Given the description of an element on the screen output the (x, y) to click on. 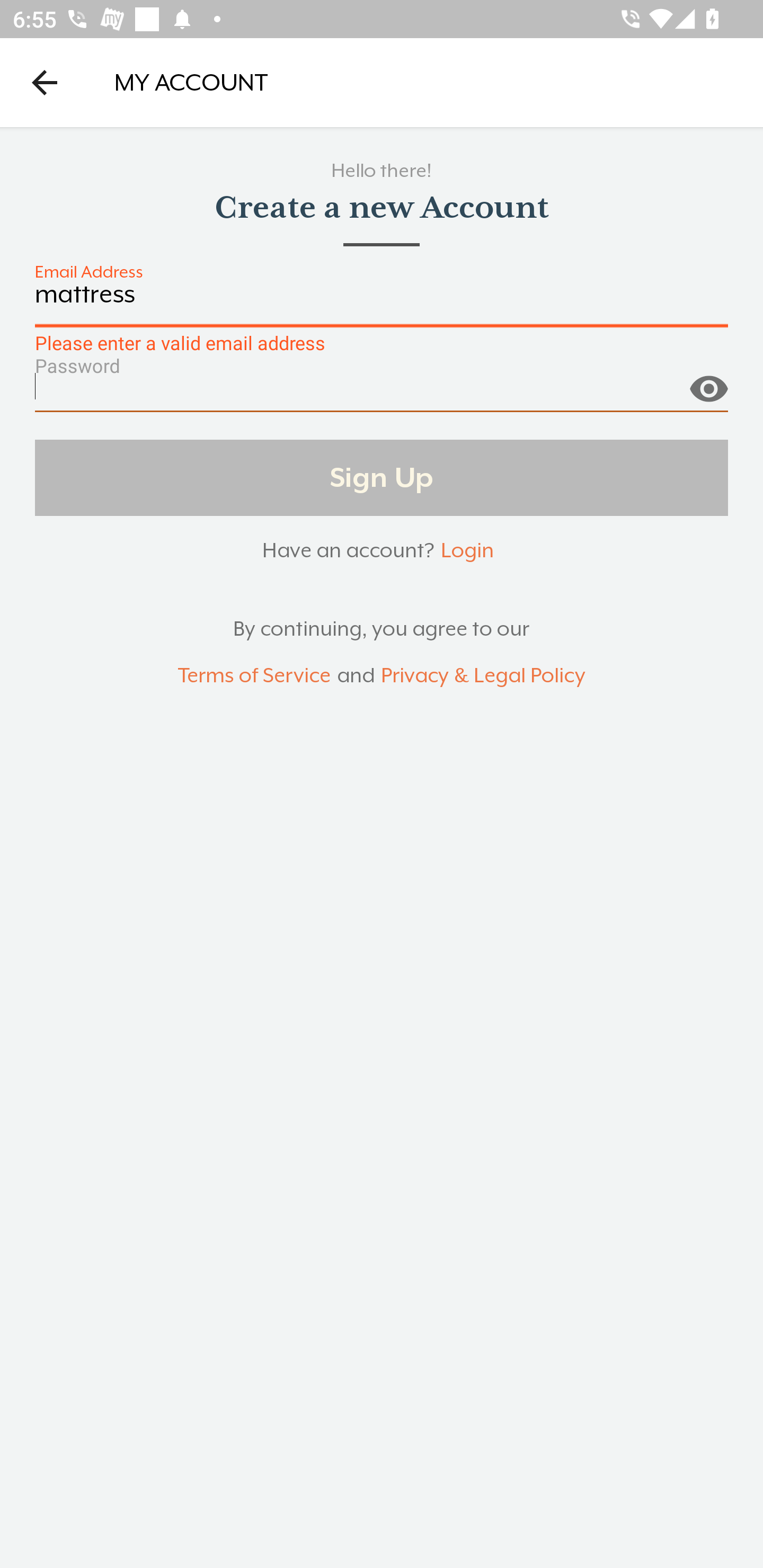
Navigate up (44, 82)
mattress (381, 304)
 (708, 381)
Password (381, 393)
Sign Up (381, 477)
Login (467, 550)
Terms of Service (253, 675)
Privacy & Legal Policy (483, 675)
